Given the description of an element on the screen output the (x, y) to click on. 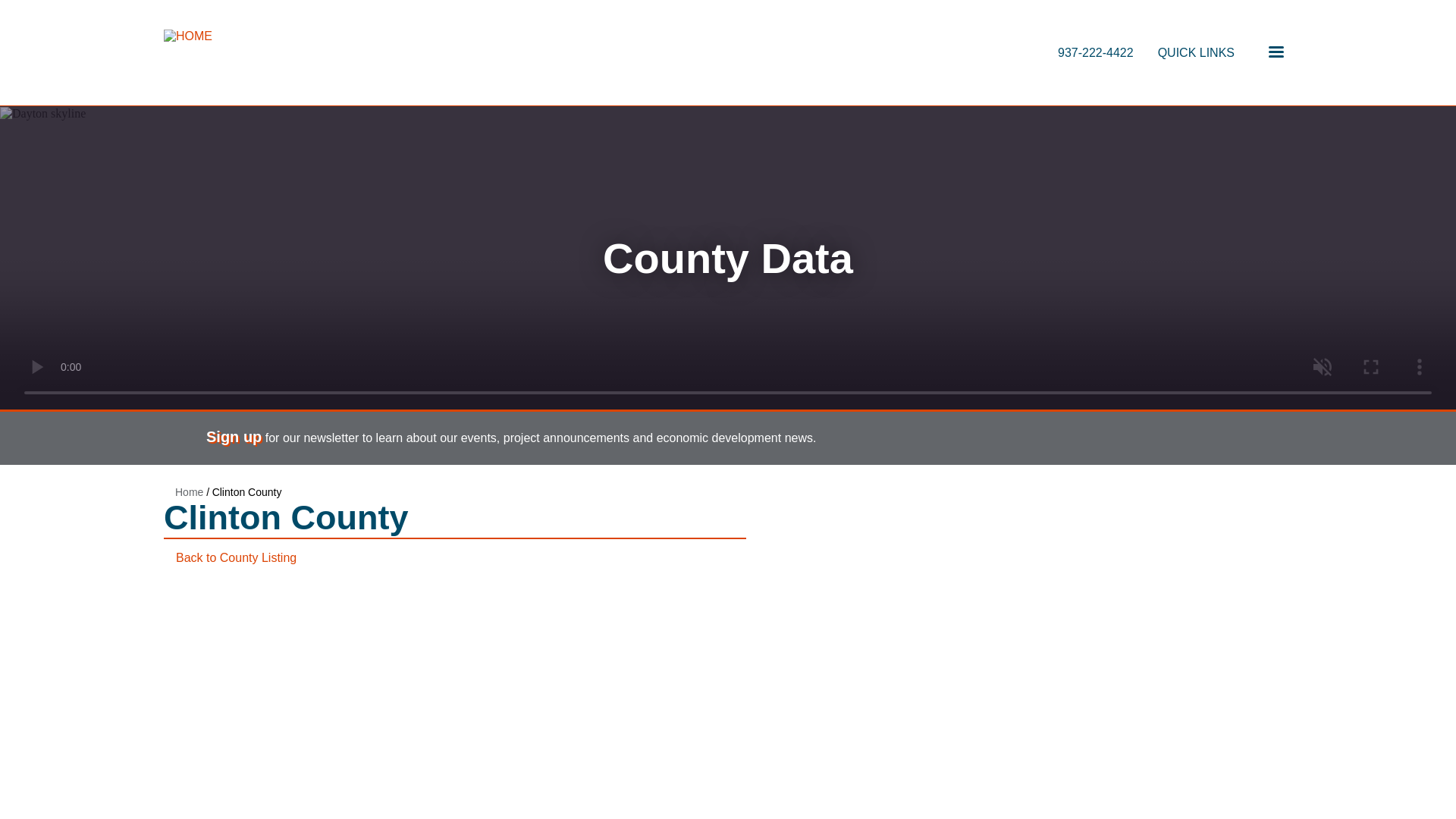
937-222-4422 (1096, 51)
Home (188, 491)
Menu (1275, 52)
Sign up (234, 436)
Back to County Listing (236, 557)
Search (1272, 54)
